Given the description of an element on the screen output the (x, y) to click on. 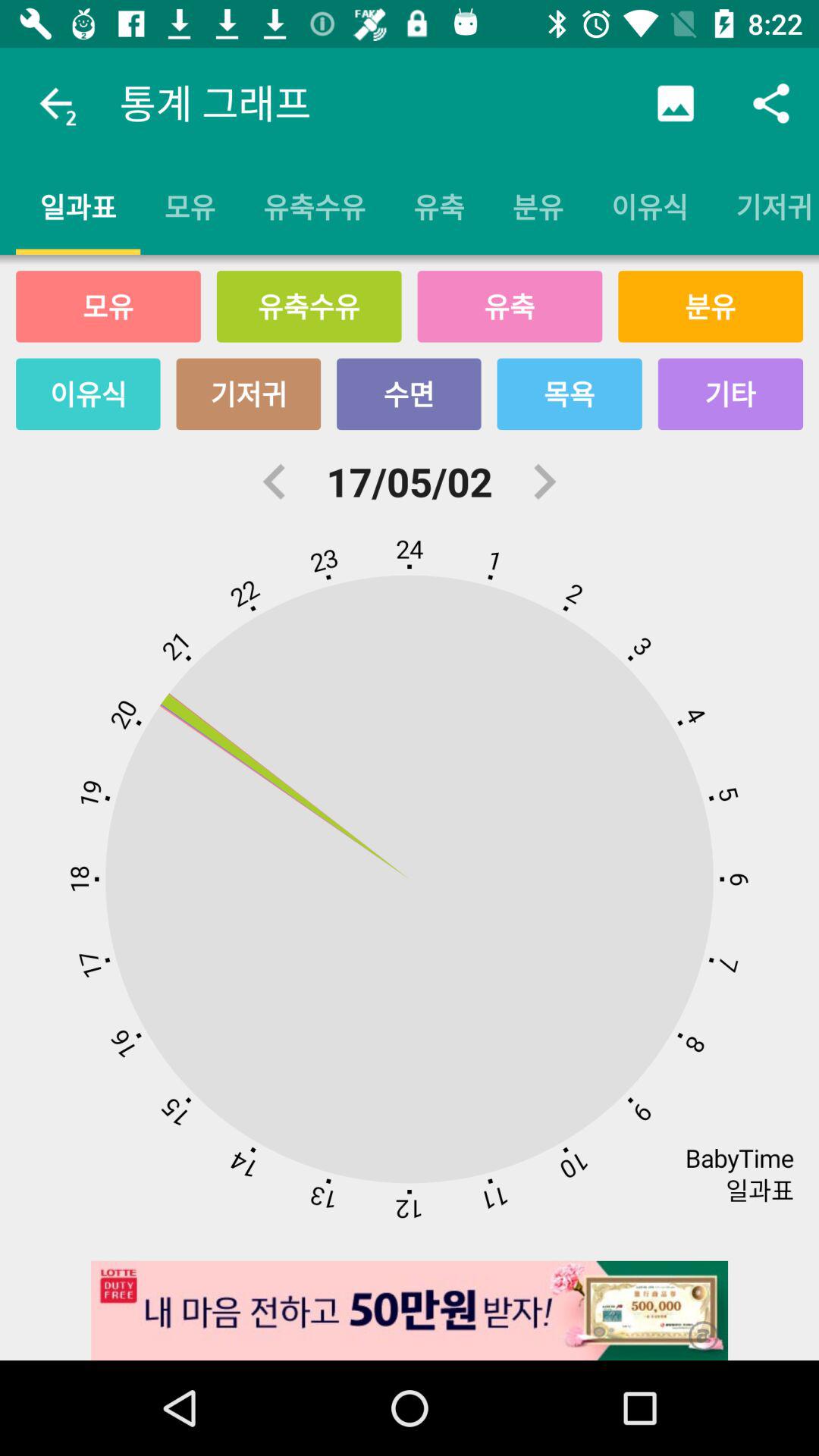
launch the icon above the 17/05/02 (408, 393)
